Given the description of an element on the screen output the (x, y) to click on. 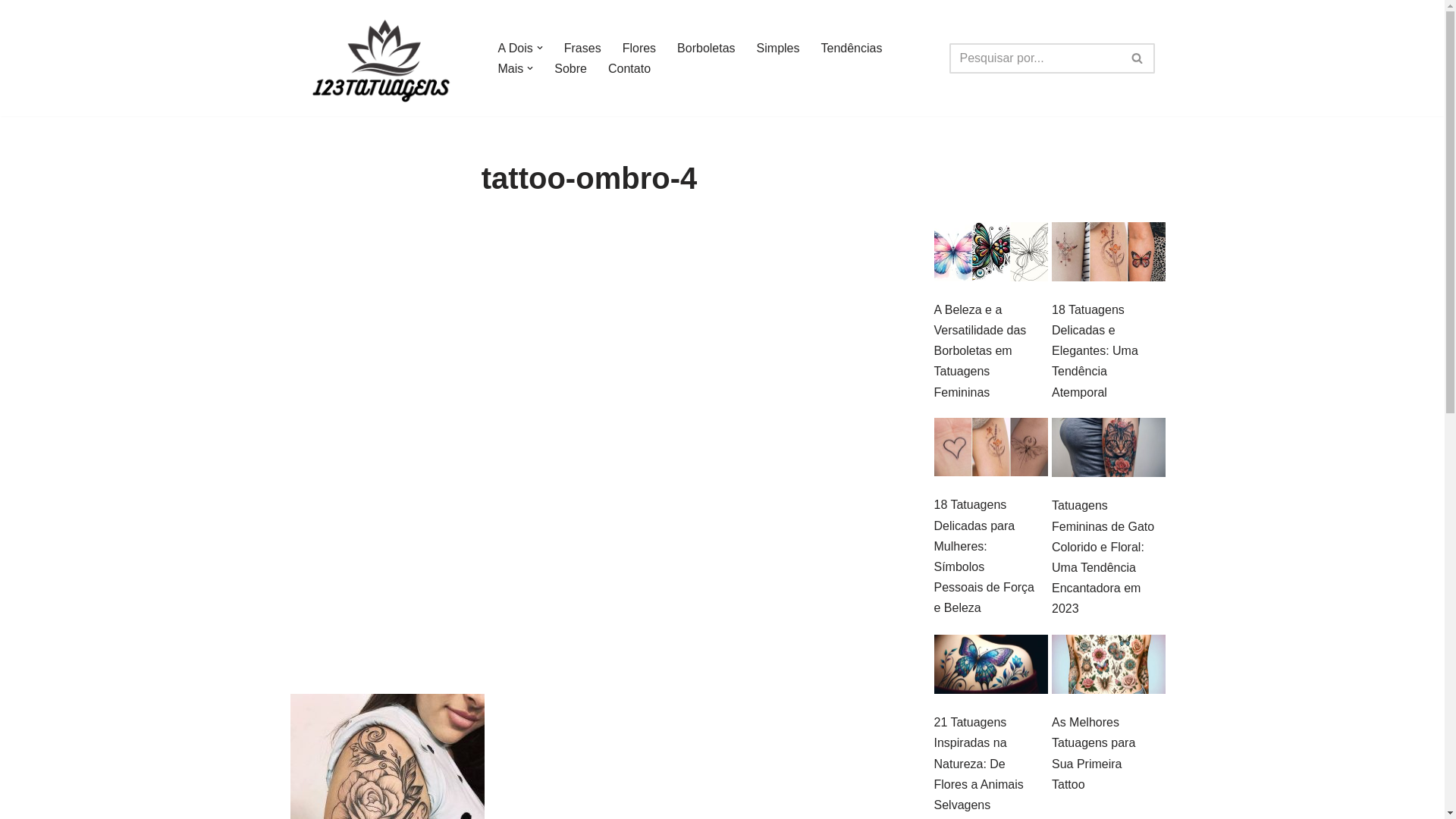
Advertisement Element type: hover (588, 581)
Sobre Element type: text (570, 68)
Mais Element type: text (510, 68)
Flores Element type: text (638, 47)
As Melhores Tatuagens para Sua Primeira Tattoo Element type: text (1093, 752)
Advertisement Element type: hover (588, 346)
Simples Element type: text (778, 47)
Contato Element type: text (629, 68)
Borboletas Element type: text (706, 47)
Frases Element type: text (582, 47)
A Dois Element type: text (514, 47)
